Given the description of an element on the screen output the (x, y) to click on. 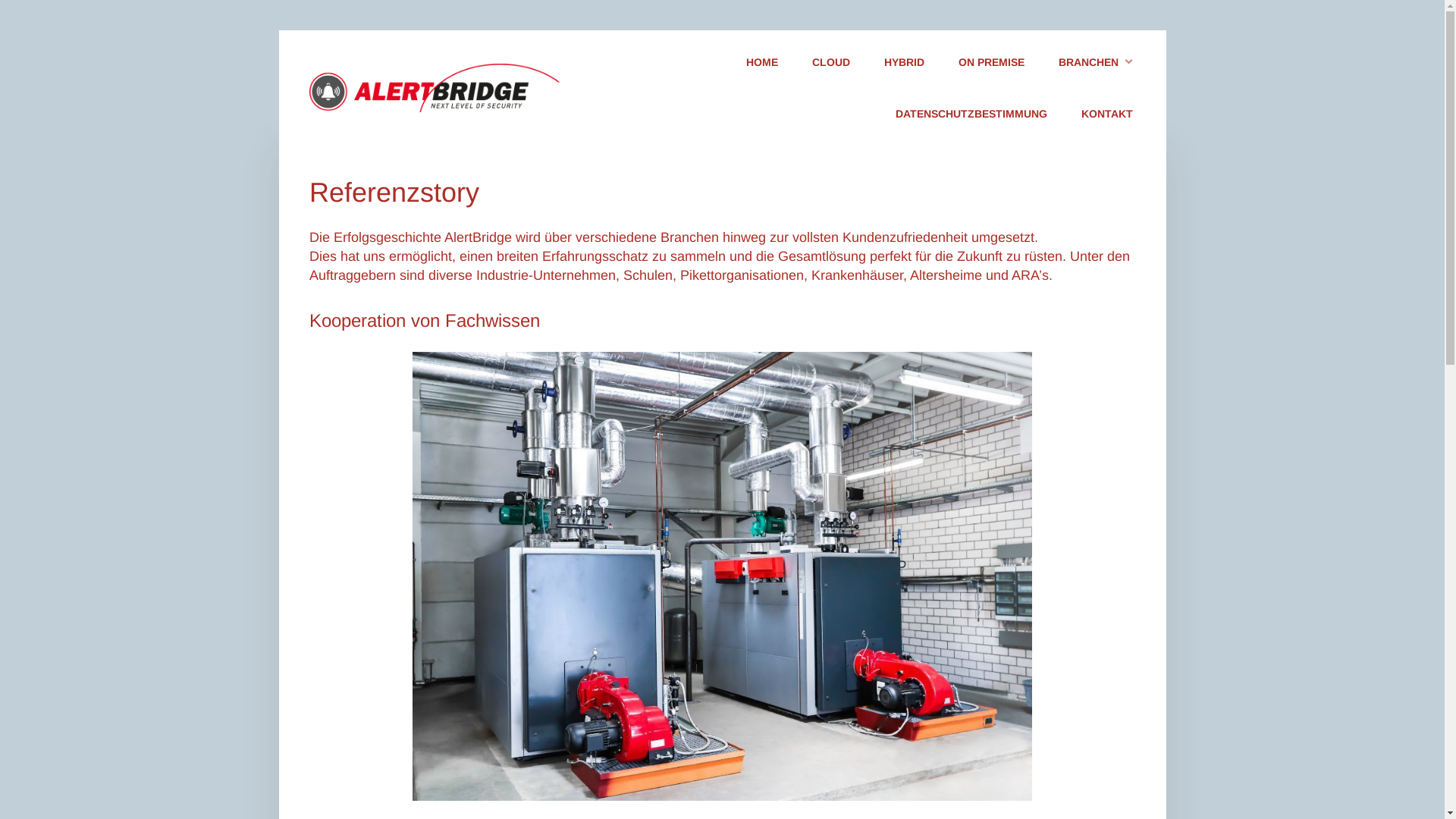
DATENSCHUTZBESTIMMUNG Element type: text (970, 115)
HYBRID Element type: text (903, 63)
KONTAKT Element type: text (1106, 115)
CLOUD Element type: text (829, 63)
ON PREMISE Element type: text (991, 63)
HOME Element type: text (761, 63)
